Given the description of an element on the screen output the (x, y) to click on. 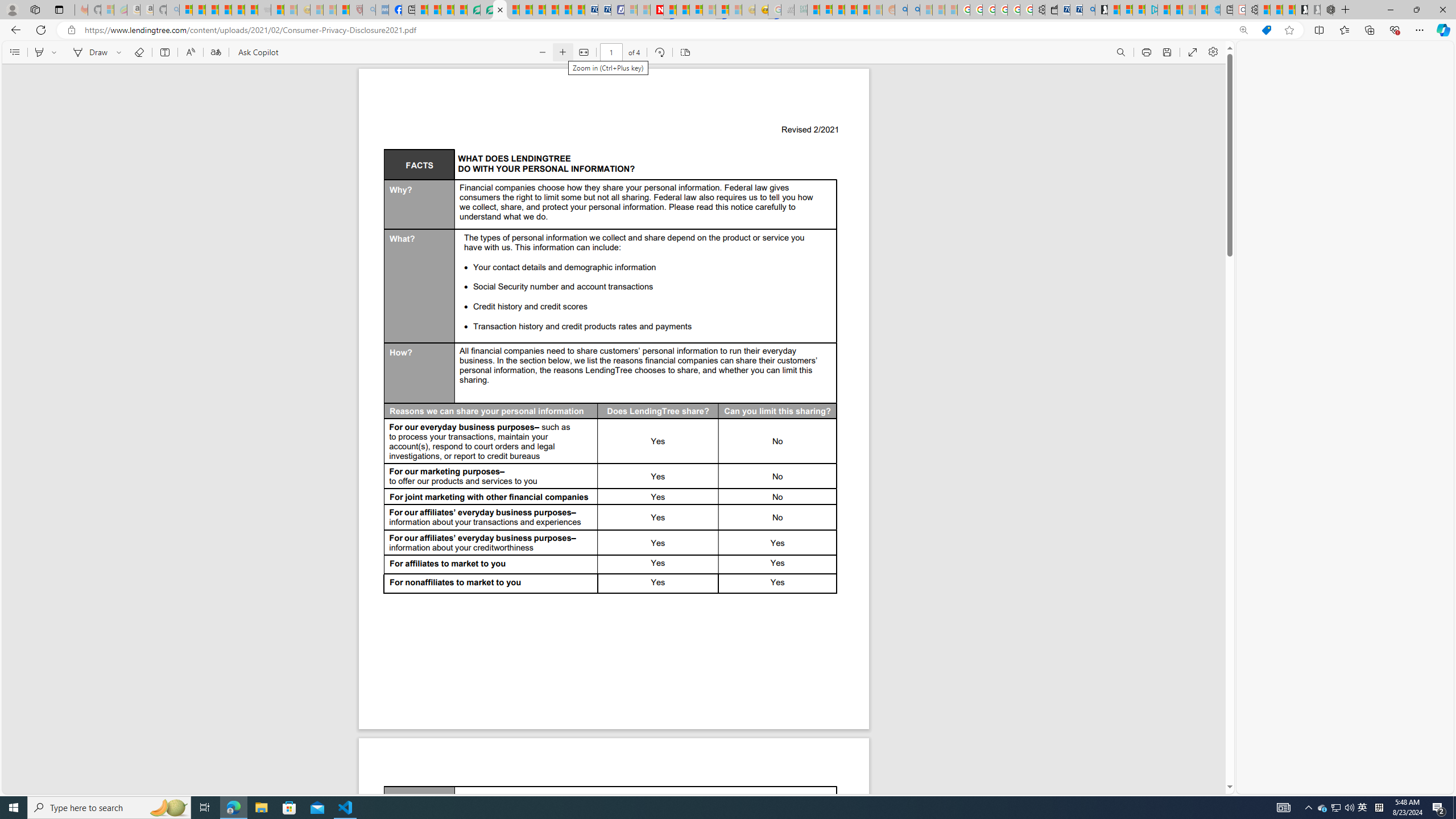
Erase (138, 52)
Local - MSN (342, 9)
Translate (215, 52)
Fit to width (Ctrl+\) (583, 52)
Student Loan Update: Forgiveness Program Ends This Month (864, 9)
Settings and more (1212, 52)
